Given the description of an element on the screen output the (x, y) to click on. 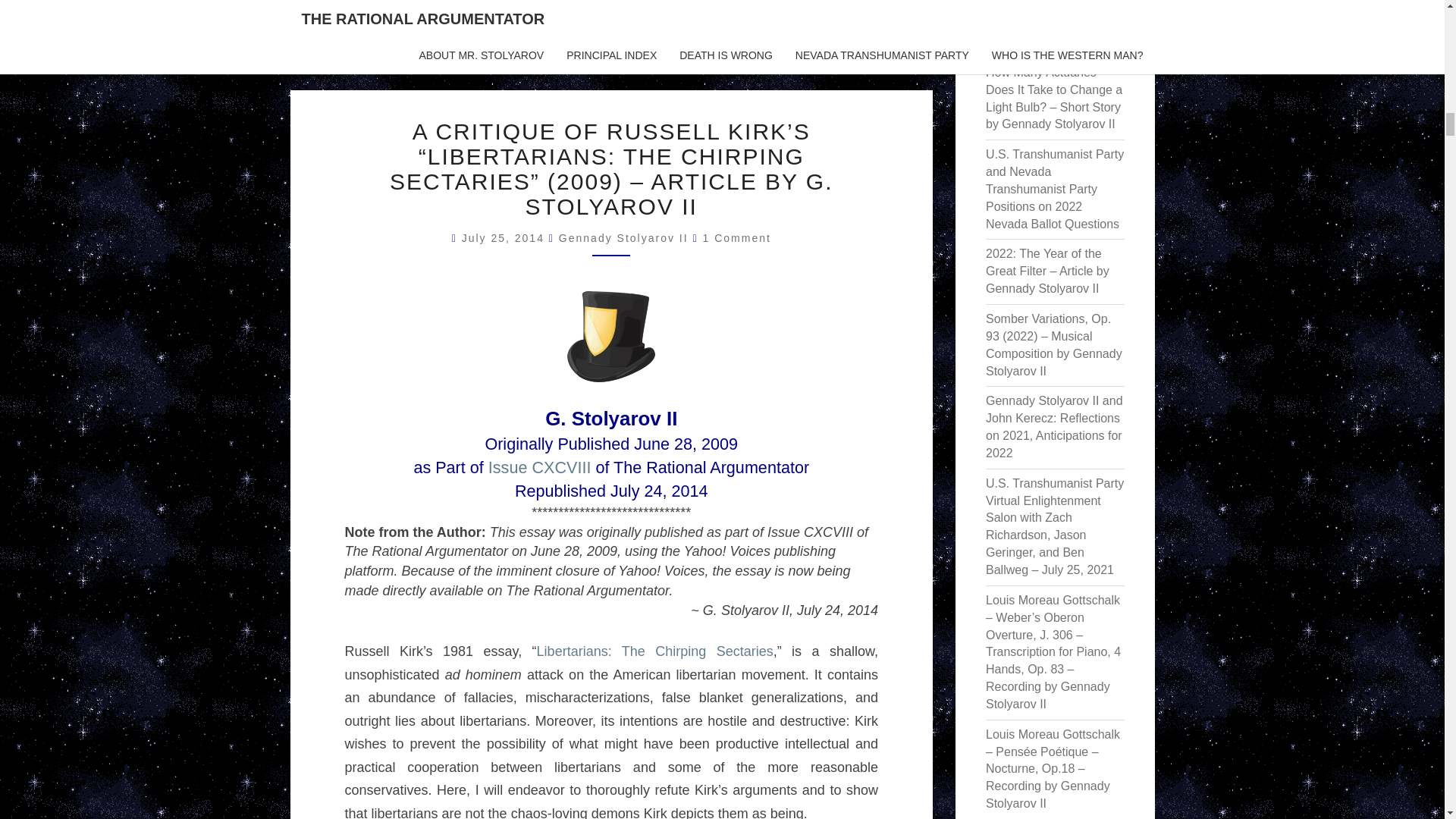
July 25, 2014 (504, 237)
2:35 AM (504, 237)
Gennady Stolyarov II (623, 237)
View all posts by Gennady Stolyarov II (623, 237)
